Given the description of an element on the screen output the (x, y) to click on. 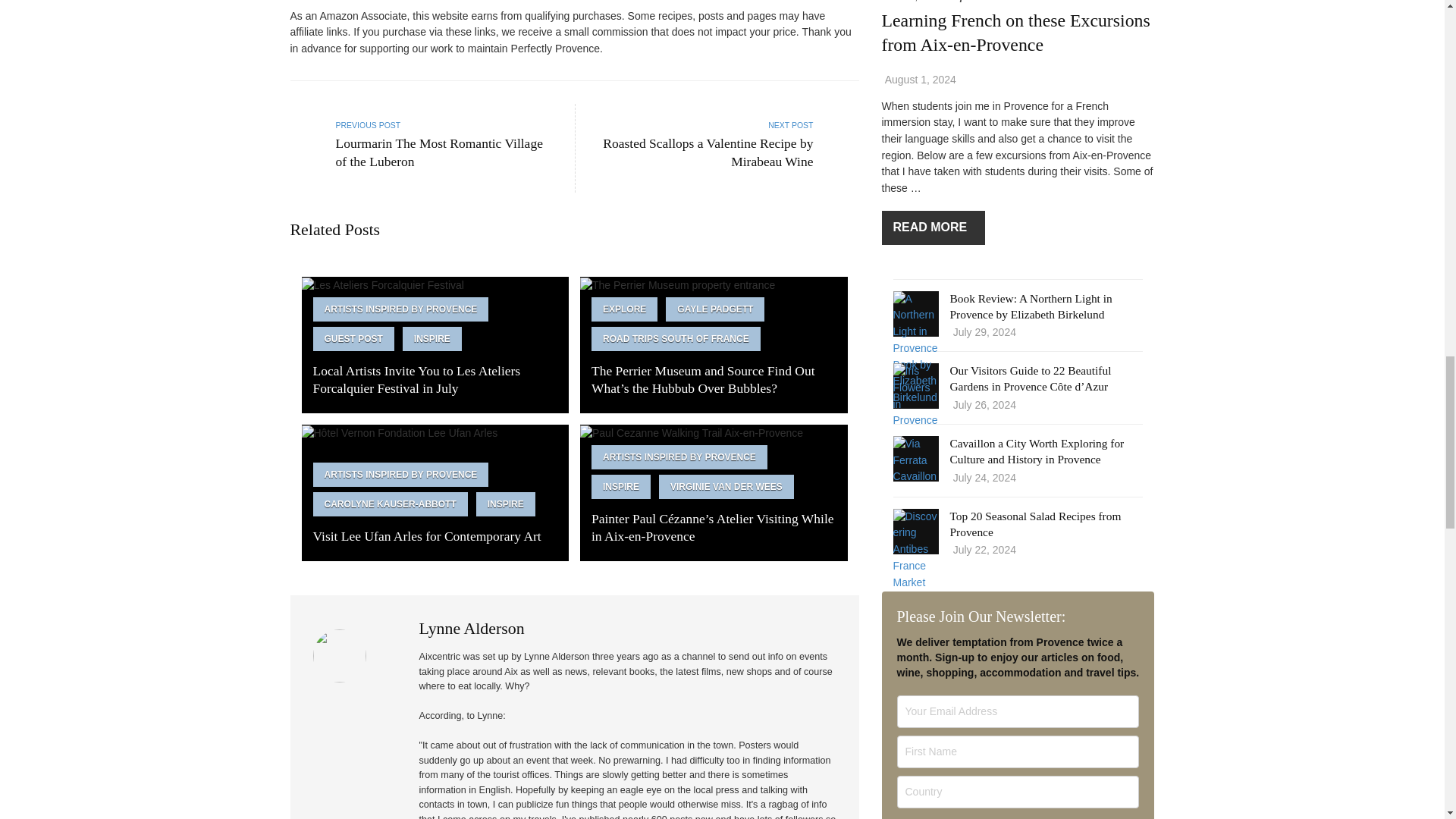
View all posts in Gayle Padgett (714, 309)
View all posts in Inspire (432, 338)
View all posts in Explore (624, 309)
View all posts in Guest Post (353, 338)
View all posts in Road Trips South of France (675, 338)
View all posts in Artists Inspired by Provence (400, 309)
